Given the description of an element on the screen output the (x, y) to click on. 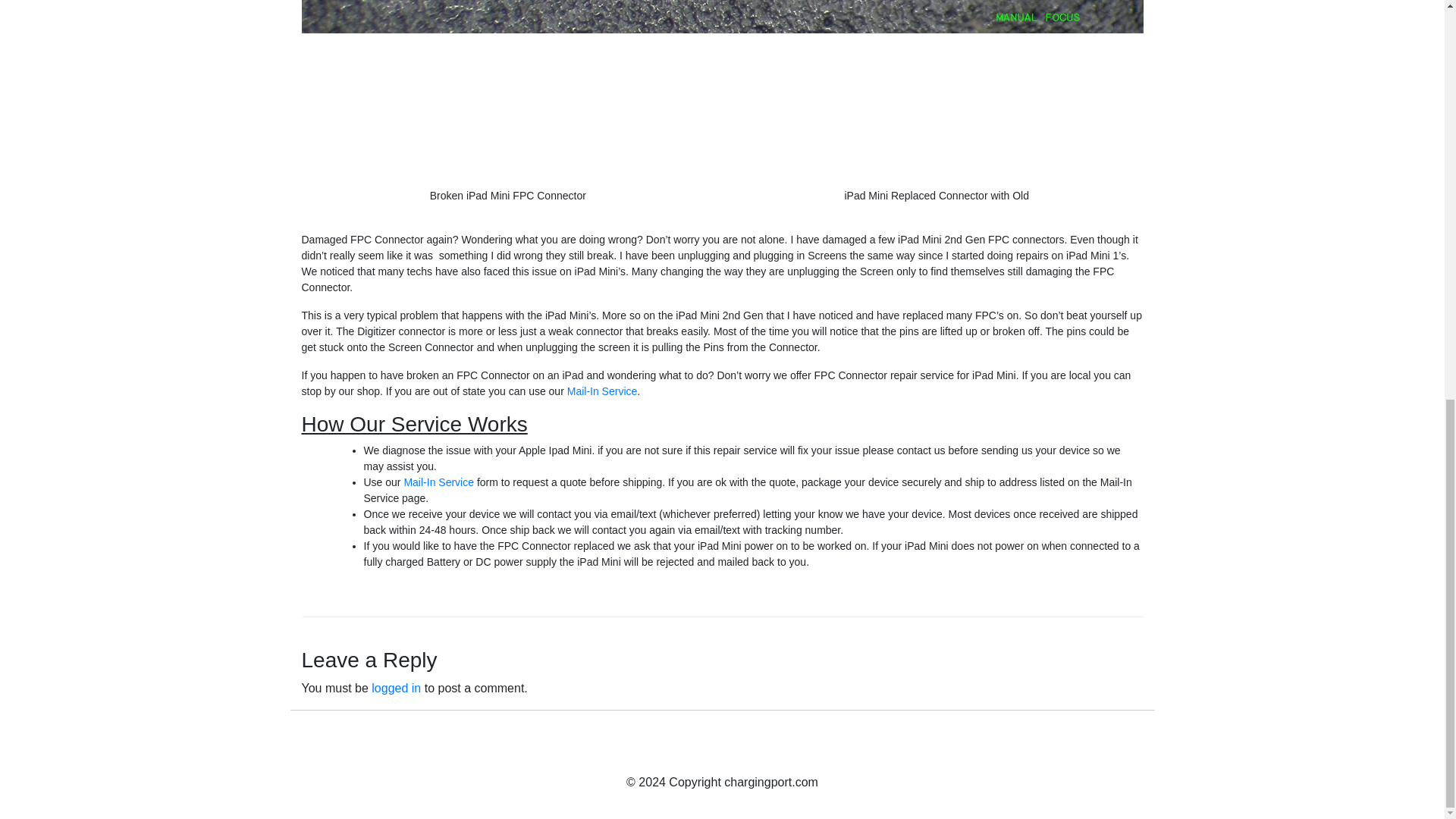
logged in (395, 687)
Mail-In Service (438, 481)
Mail-In Service (602, 390)
